Given the description of an element on the screen output the (x, y) to click on. 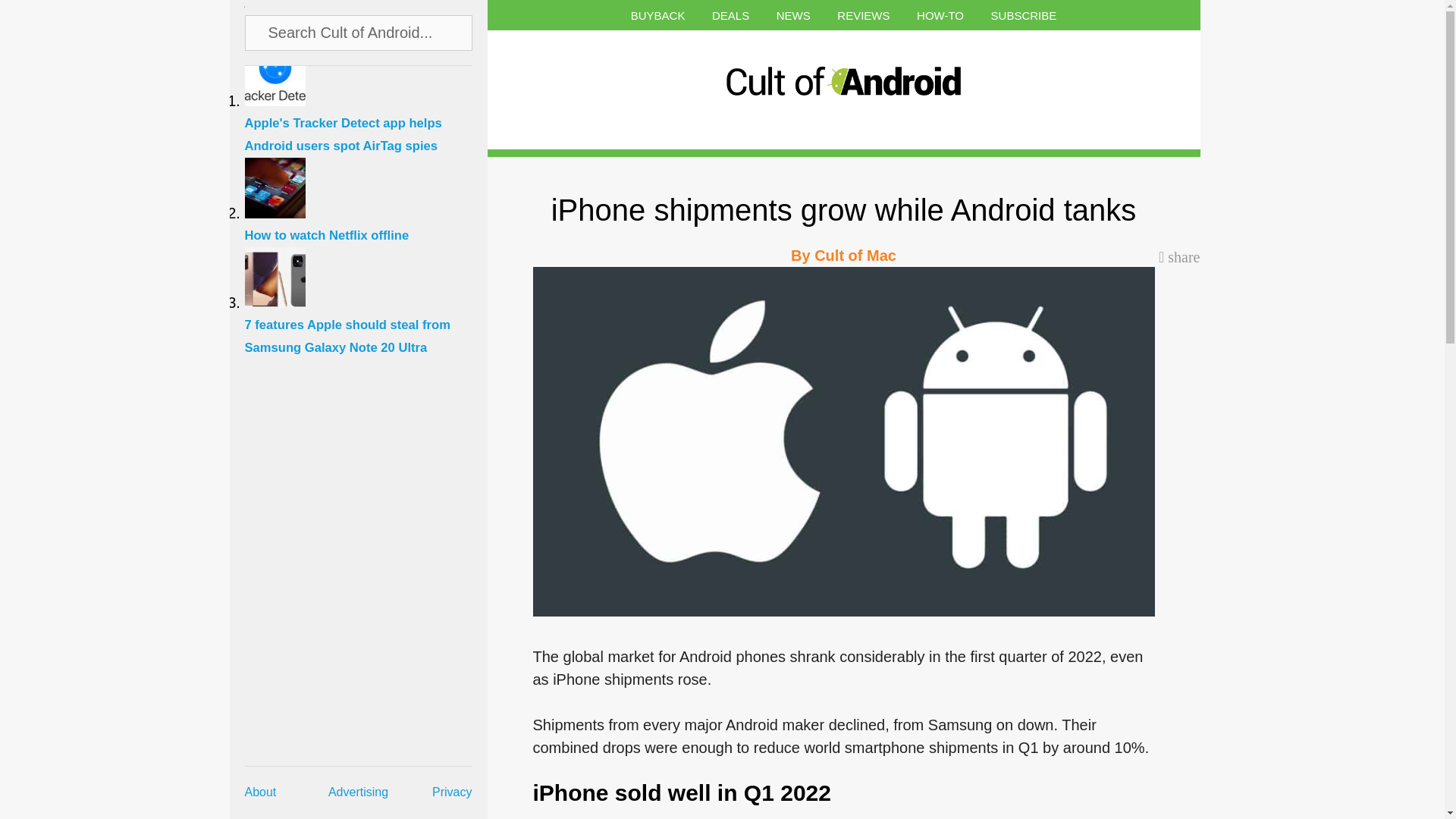
How to watch Netflix offline (365, 225)
HOW-TO (940, 15)
DEALS (730, 15)
Advertising (358, 791)
Search Cult of Android... (358, 32)
Posts by Cult of Mac (854, 255)
SUBSCRIBE (1024, 15)
NEWS (793, 15)
Privacy (451, 791)
REVIEWS (863, 15)
About (260, 791)
Search Cult of Android... (358, 32)
share (1178, 256)
